Given the description of an element on the screen output the (x, y) to click on. 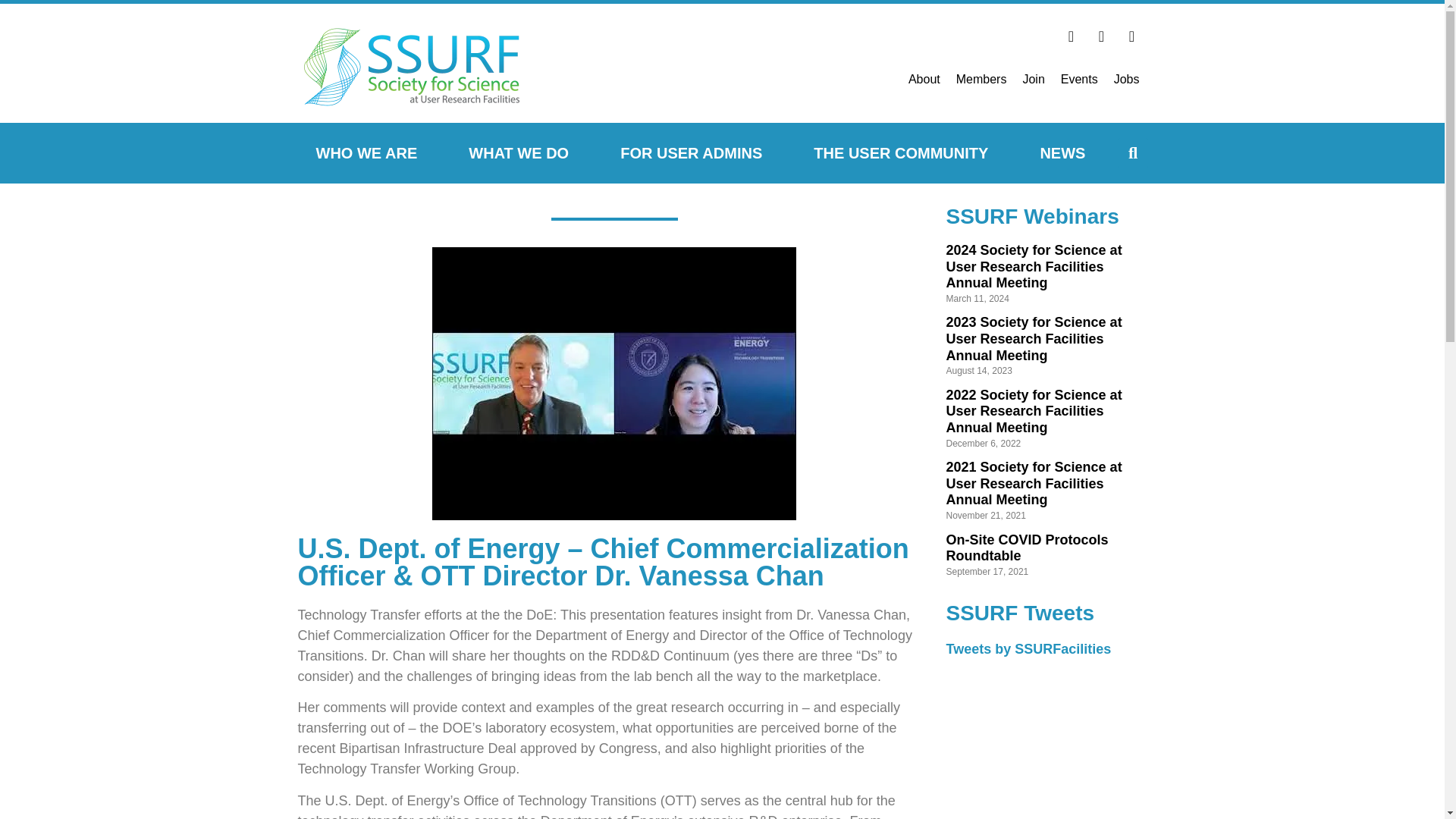
Join (1032, 79)
About (924, 79)
Events (1078, 79)
Jobs (1126, 79)
Members (981, 79)
